Given the description of an element on the screen output the (x, y) to click on. 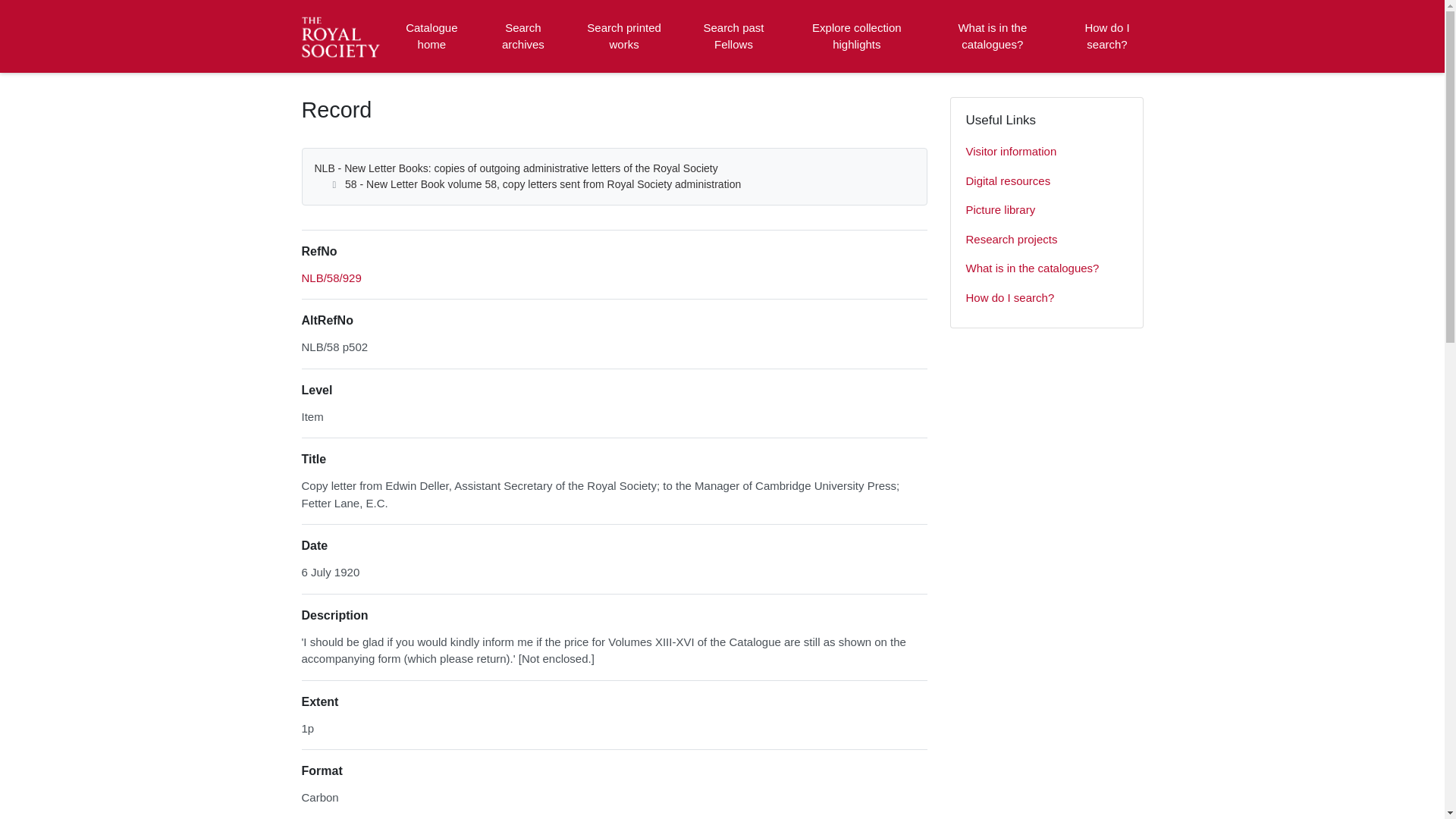
Search archives (522, 36)
Catalogue home (431, 36)
Picture library (1046, 210)
Digital resources (1046, 181)
Browse record in hierarchy. (331, 277)
Explore collection highlights (856, 36)
Homepage (343, 36)
Visitor information (1046, 152)
